Given the description of an element on the screen output the (x, y) to click on. 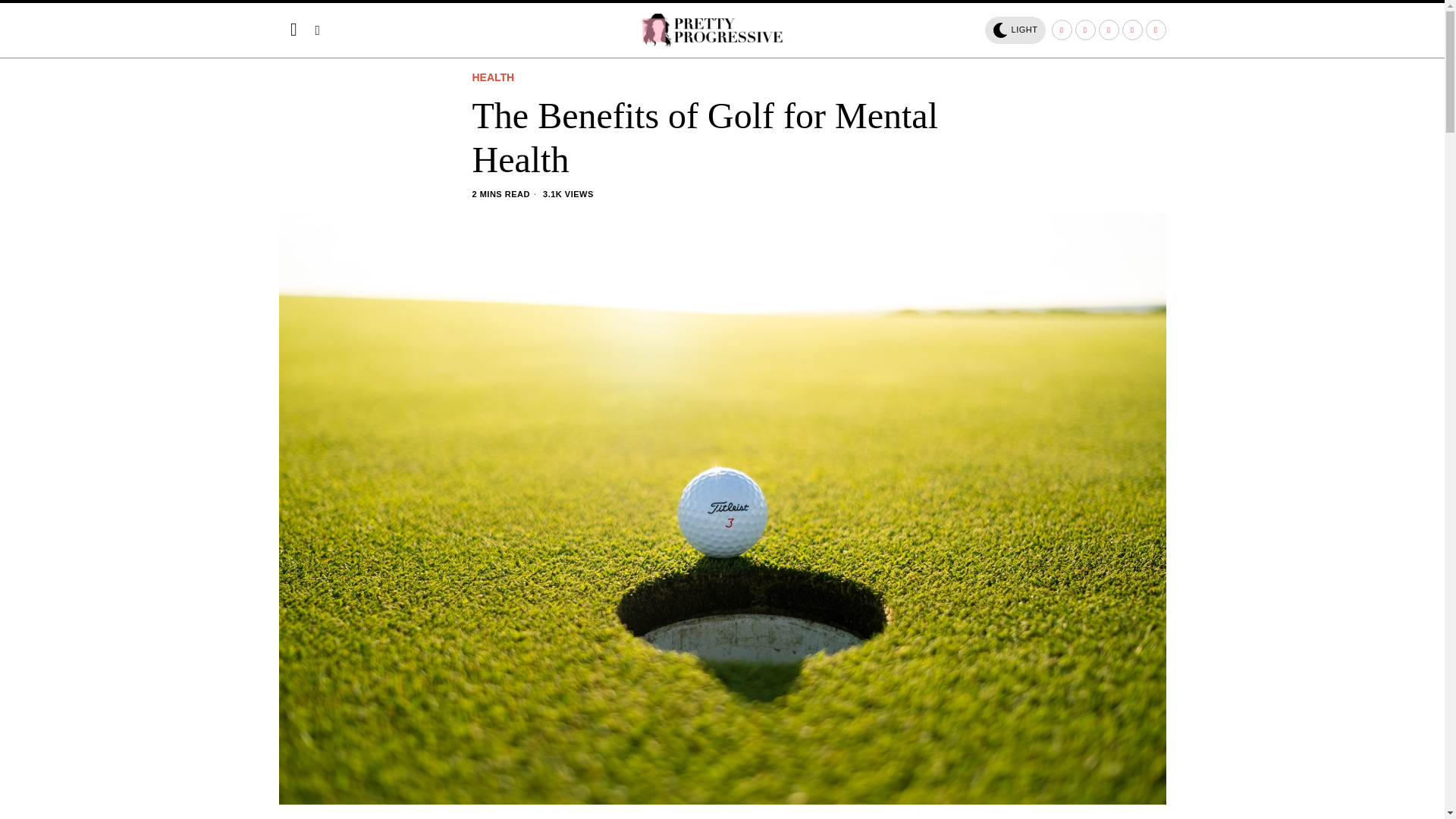
HEALTH (492, 78)
